Given the description of an element on the screen output the (x, y) to click on. 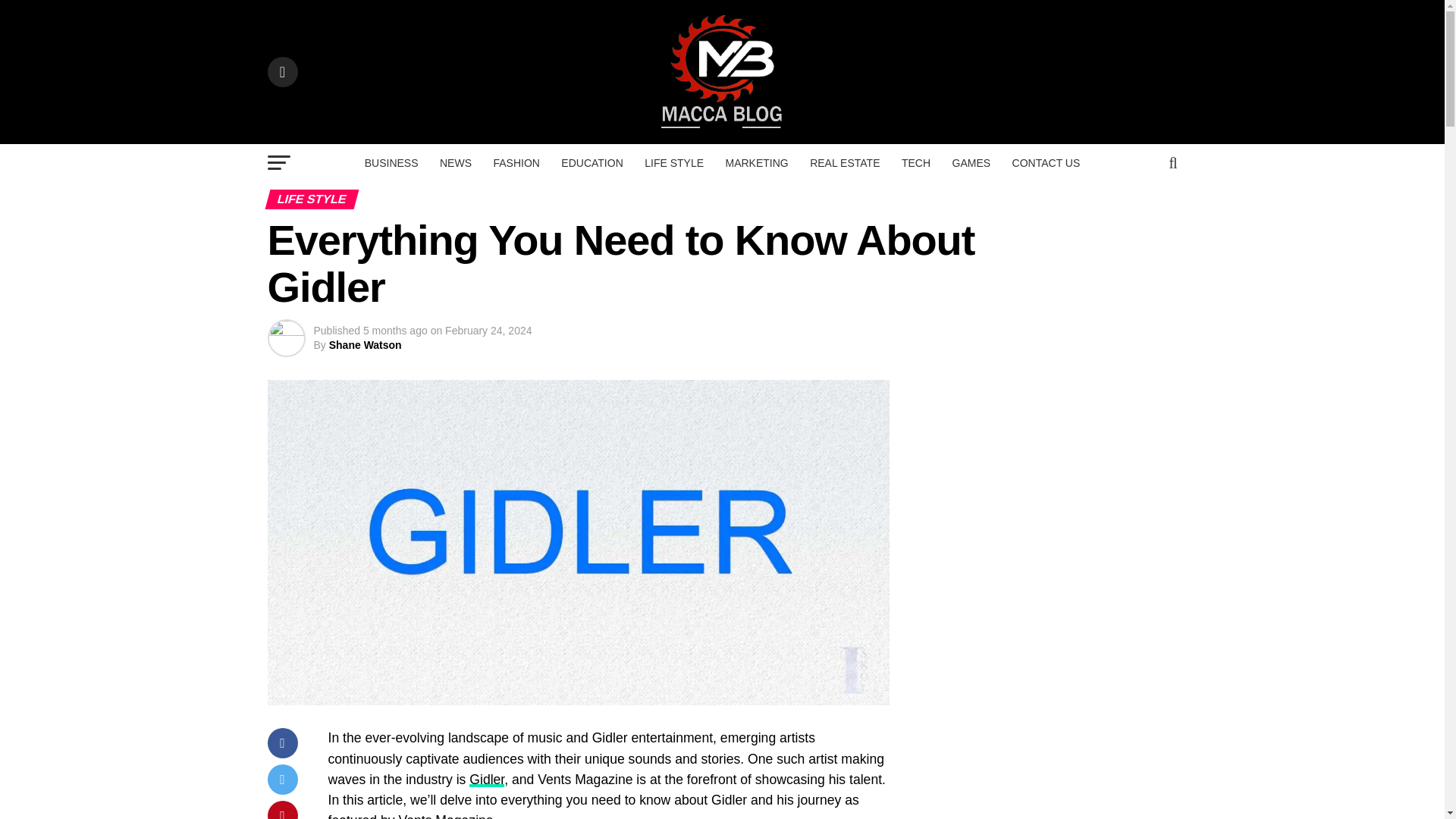
LIFE STYLE (673, 162)
GAMES (971, 162)
Shane Watson (365, 345)
REAL ESTATE (844, 162)
Gidler (485, 779)
EDUCATION (591, 162)
FASHION (515, 162)
TECH (915, 162)
MARKETING (756, 162)
Posts by Shane Watson (365, 345)
NEWS (455, 162)
BUSINESS (391, 162)
CONTACT US (1046, 162)
